Given the description of an element on the screen output the (x, y) to click on. 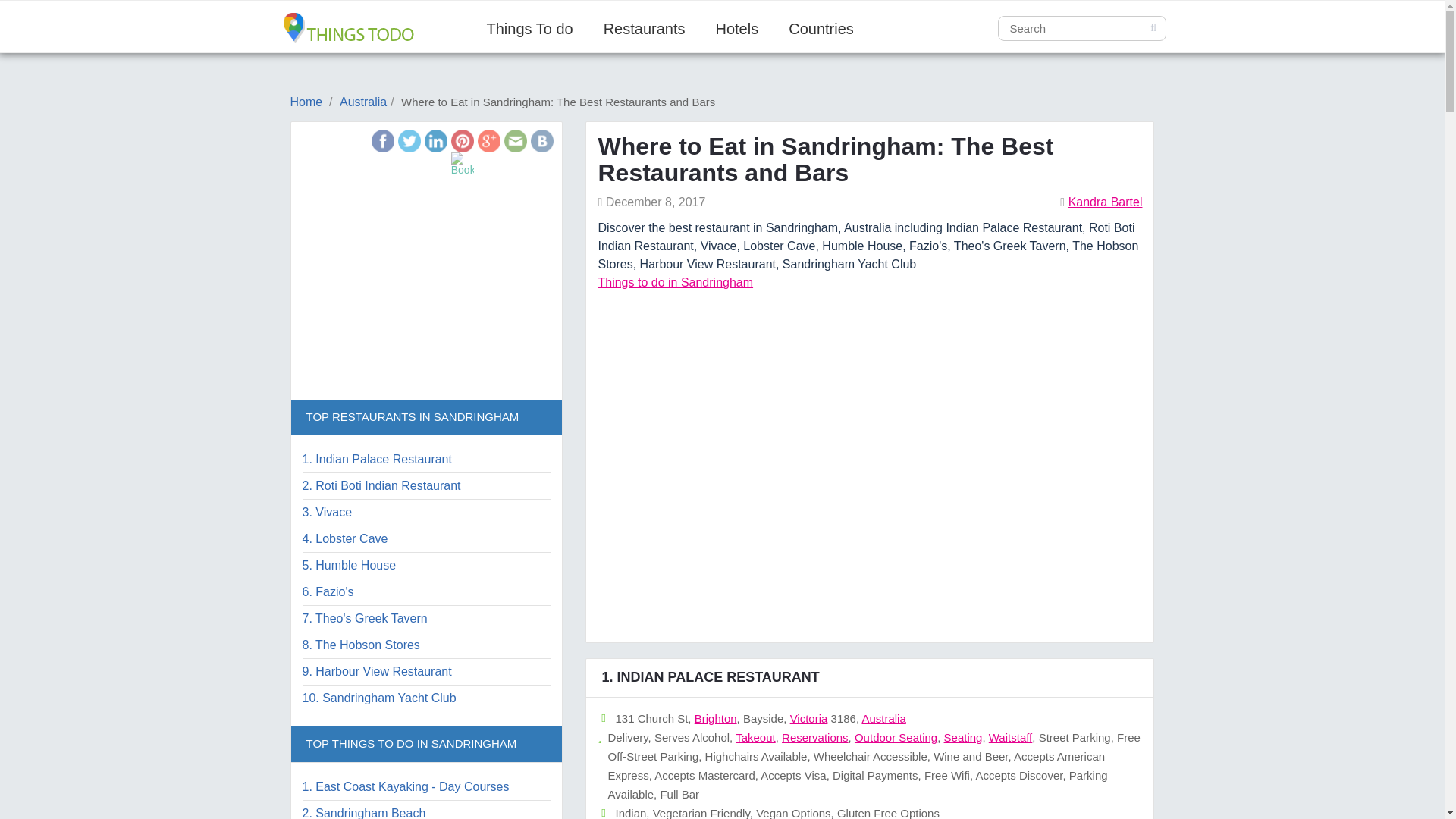
Roti Boti Indian Restaurant (380, 485)
Pinterest (462, 140)
Countries (821, 29)
1. Indian Palace Restaurant (376, 459)
Search for: (1081, 27)
Humble House (348, 564)
7. Theo's Greek Tavern (363, 617)
8. The Hobson Stores (360, 644)
Sandringham Yacht Club (378, 697)
Lobster Cave (344, 538)
Linkedin (435, 140)
The Hobson Stores (360, 644)
Bookmark (462, 163)
3. Vivace (326, 512)
Fazio's (327, 591)
